Given the description of an element on the screen output the (x, y) to click on. 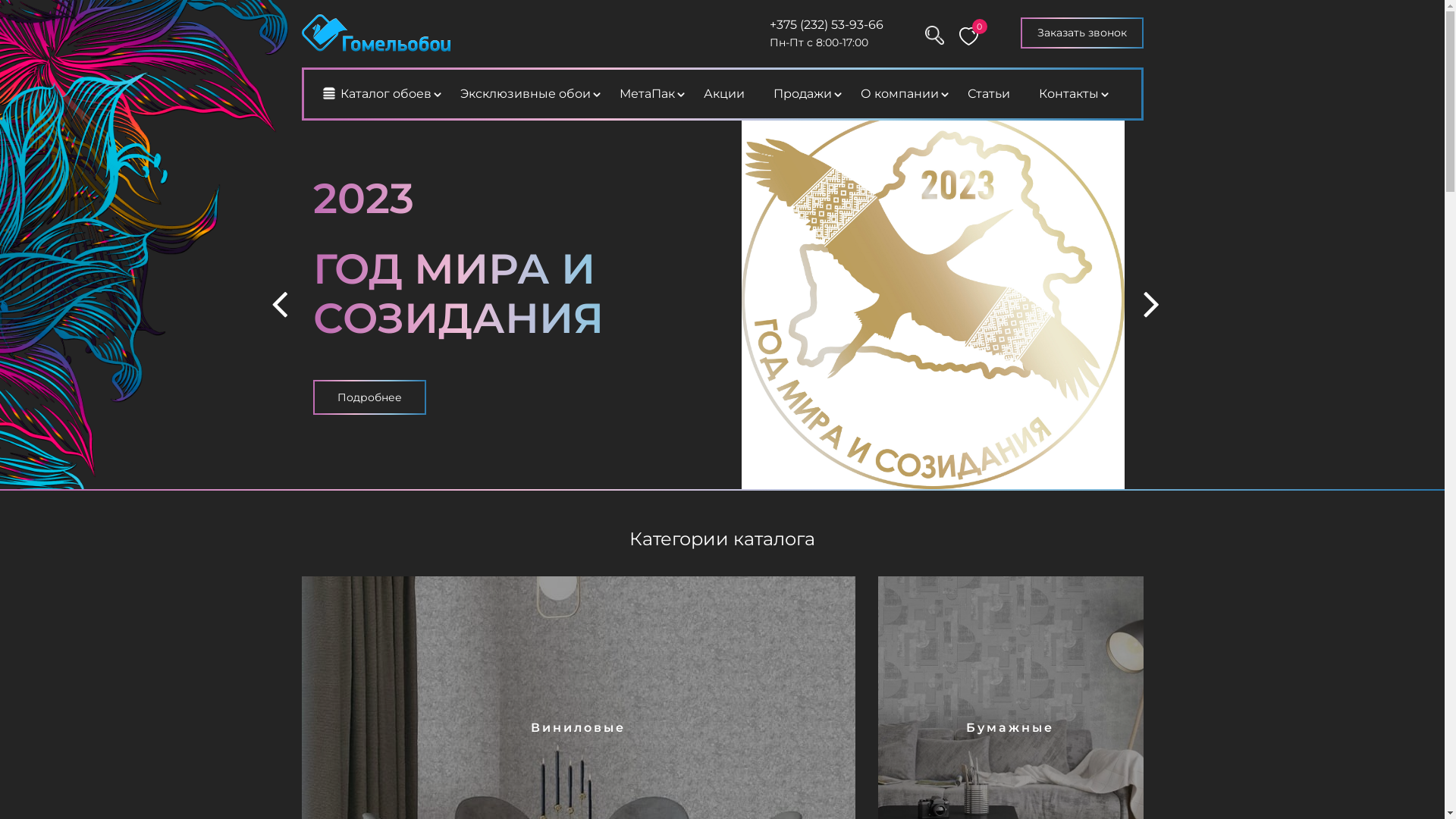
0 Element type: text (966, 29)
+375 (232) 53-93-66 Element type: text (826, 24)
